Given the description of an element on the screen output the (x, y) to click on. 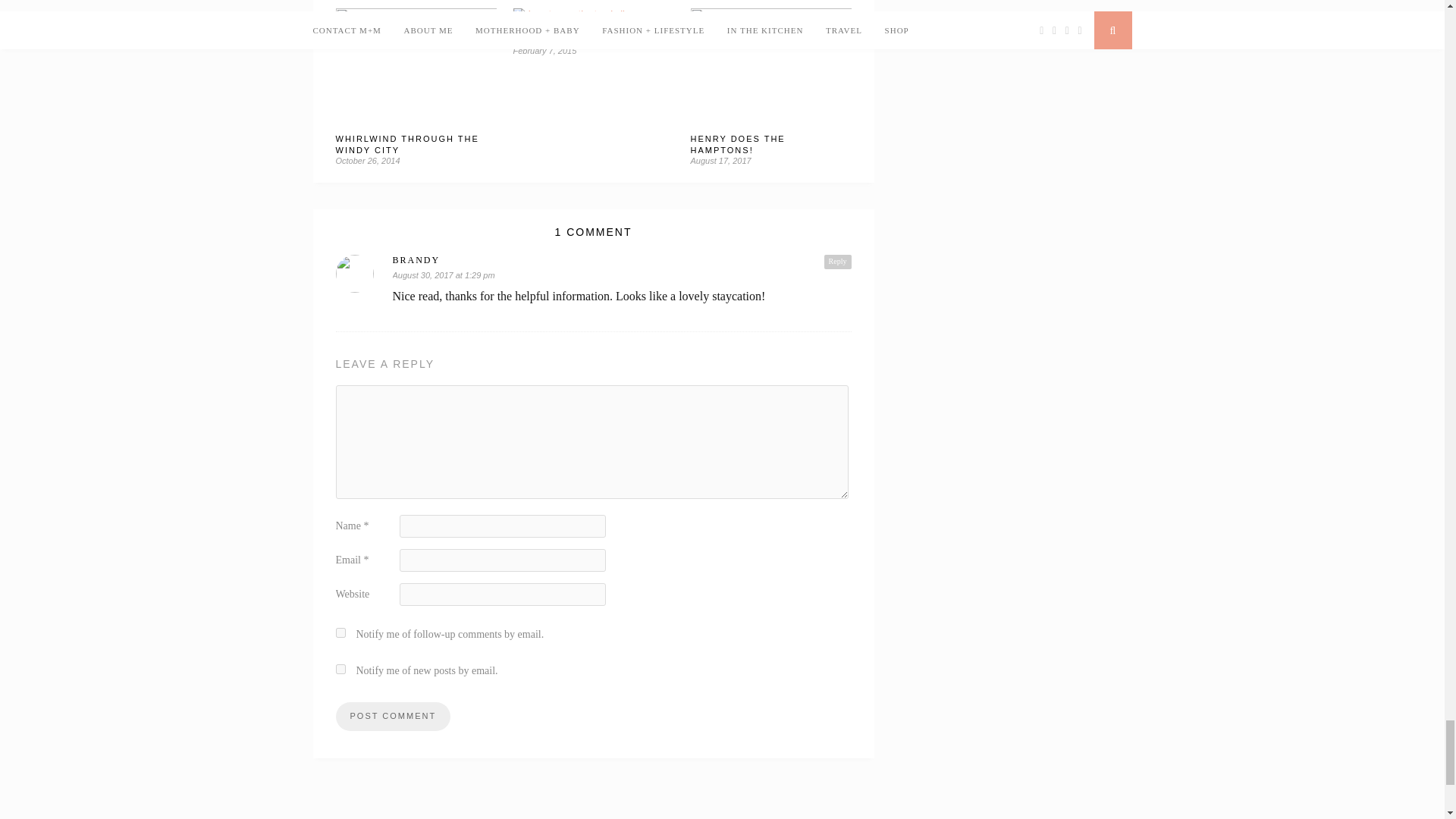
Post Comment (391, 716)
subscribe (339, 669)
subscribe (339, 633)
